Given the description of an element on the screen output the (x, y) to click on. 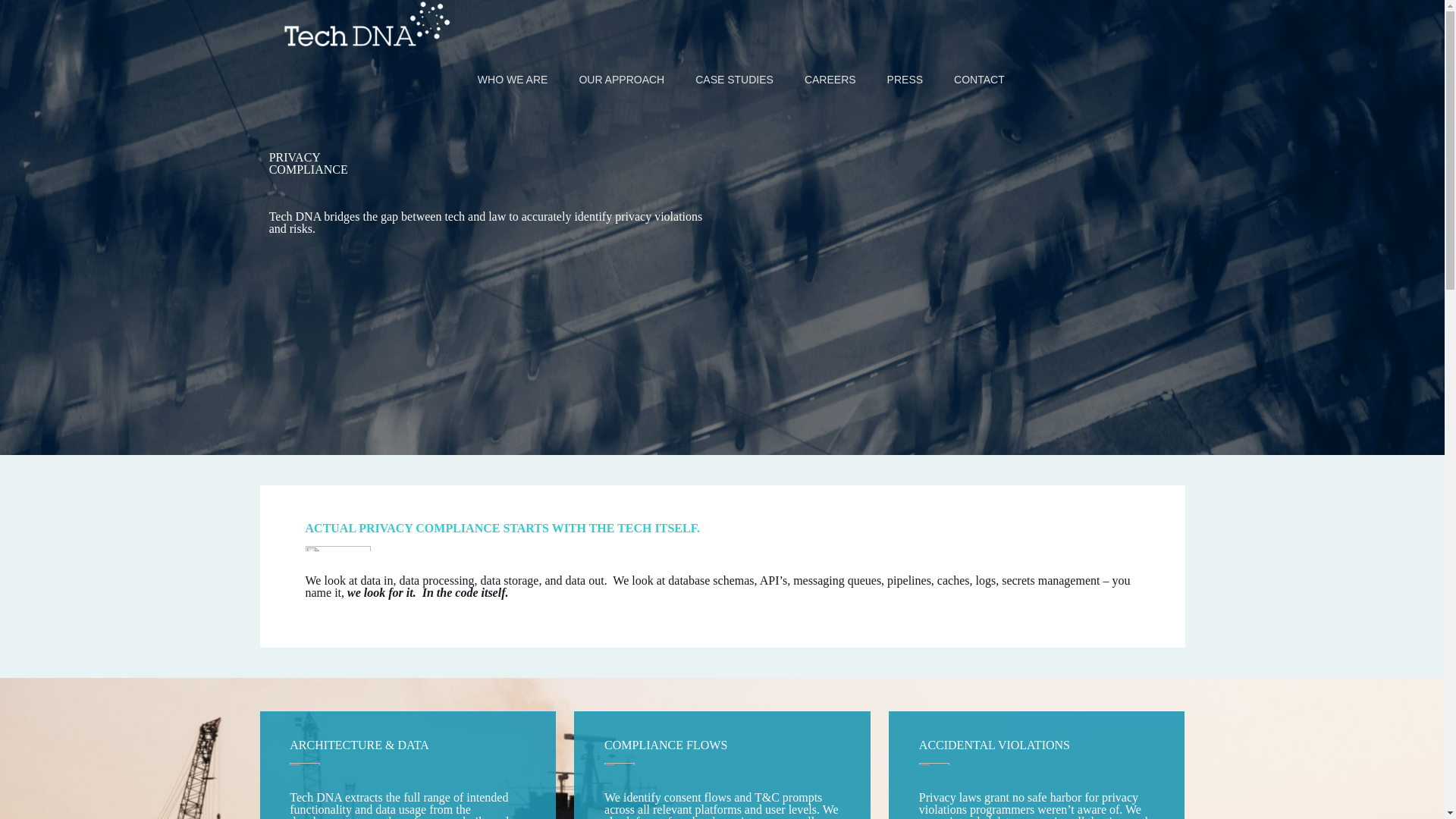
OUR APPROACH (621, 79)
CONTACT (979, 79)
CAREERS (830, 79)
CASE STUDIES (734, 79)
PRESS (905, 79)
WHO WE ARE (513, 79)
Tech DNA (375, 22)
